Given the description of an element on the screen output the (x, y) to click on. 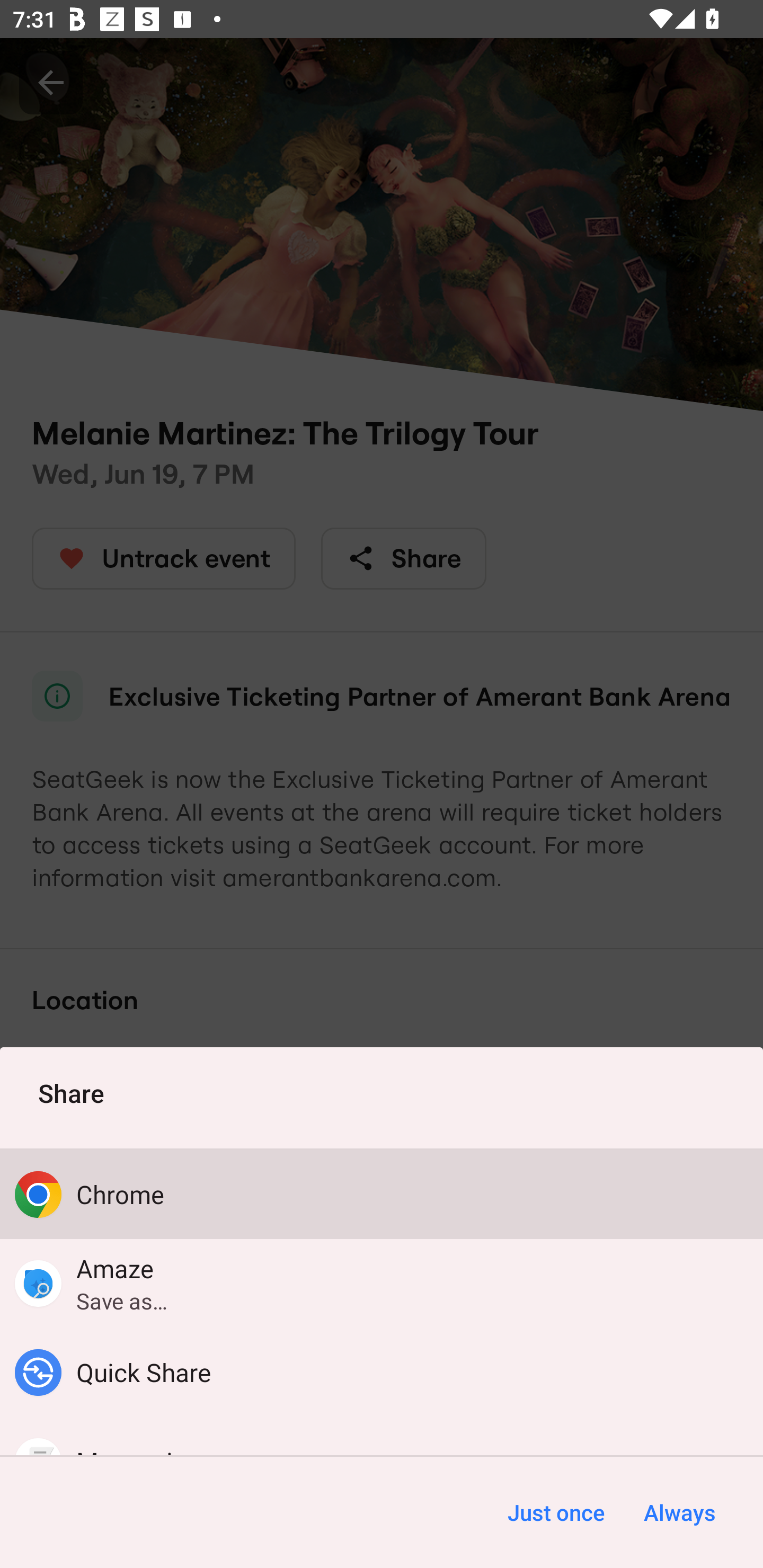
Chrome (381, 1193)
Amaze Save as… (381, 1283)
Quick Share (381, 1372)
Just once (556, 1512)
Always (679, 1512)
